Given the description of an element on the screen output the (x, y) to click on. 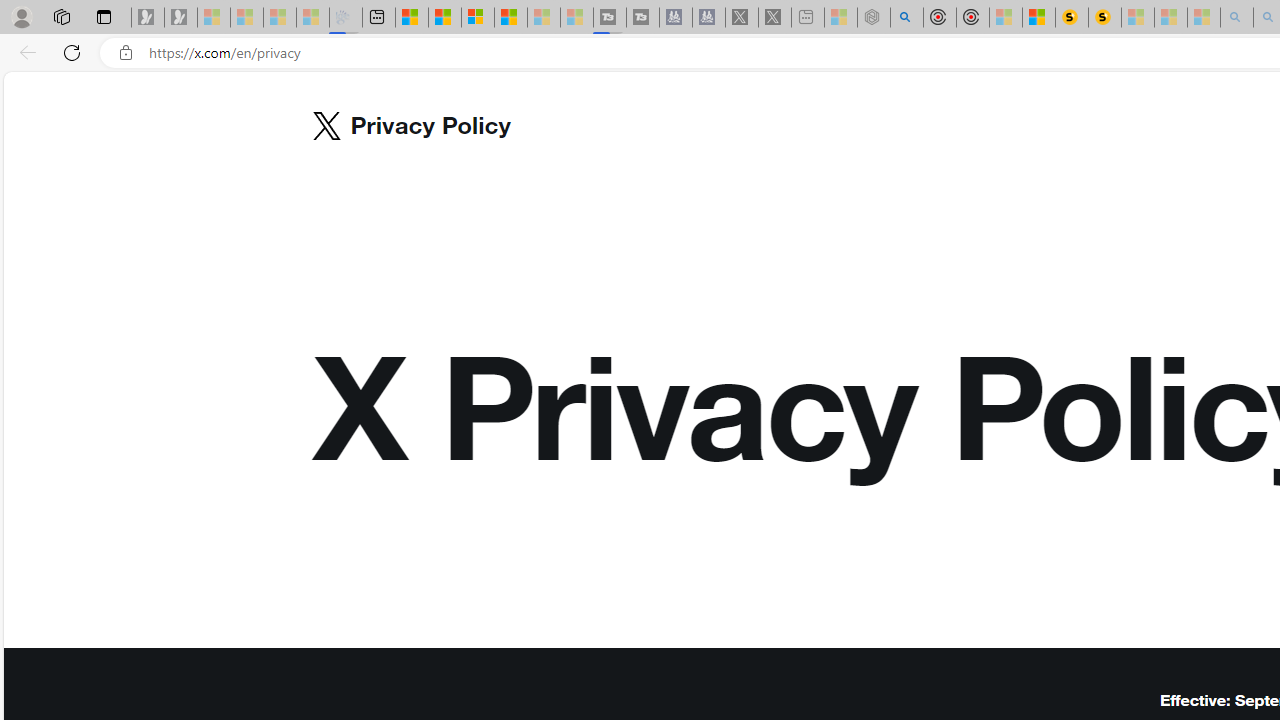
Michelle Starr, Senior Journalist at ScienceAlert (1105, 17)
